Given the description of an element on the screen output the (x, y) to click on. 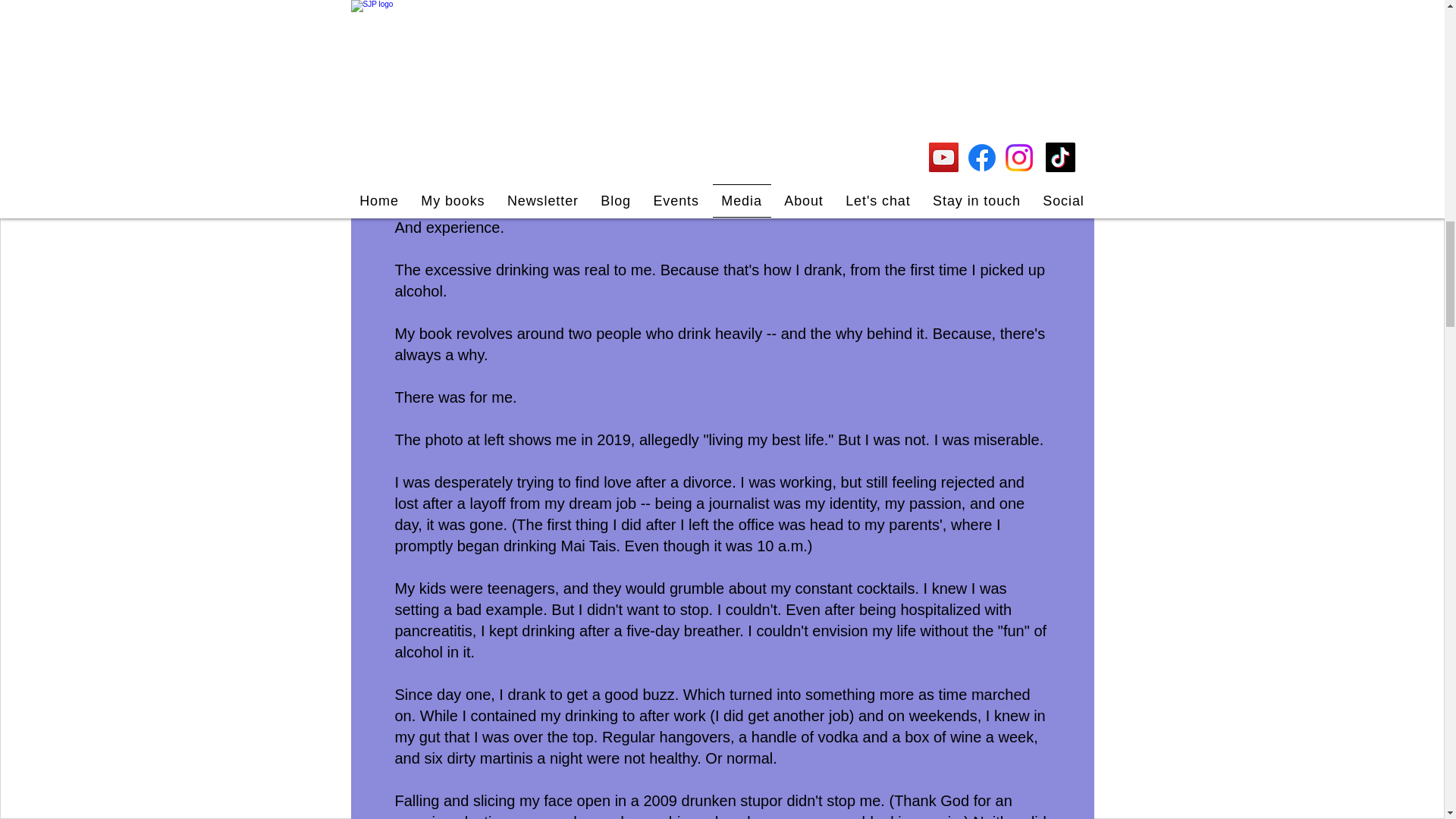
4 years post.jpg (722, 35)
